Given the description of an element on the screen output the (x, y) to click on. 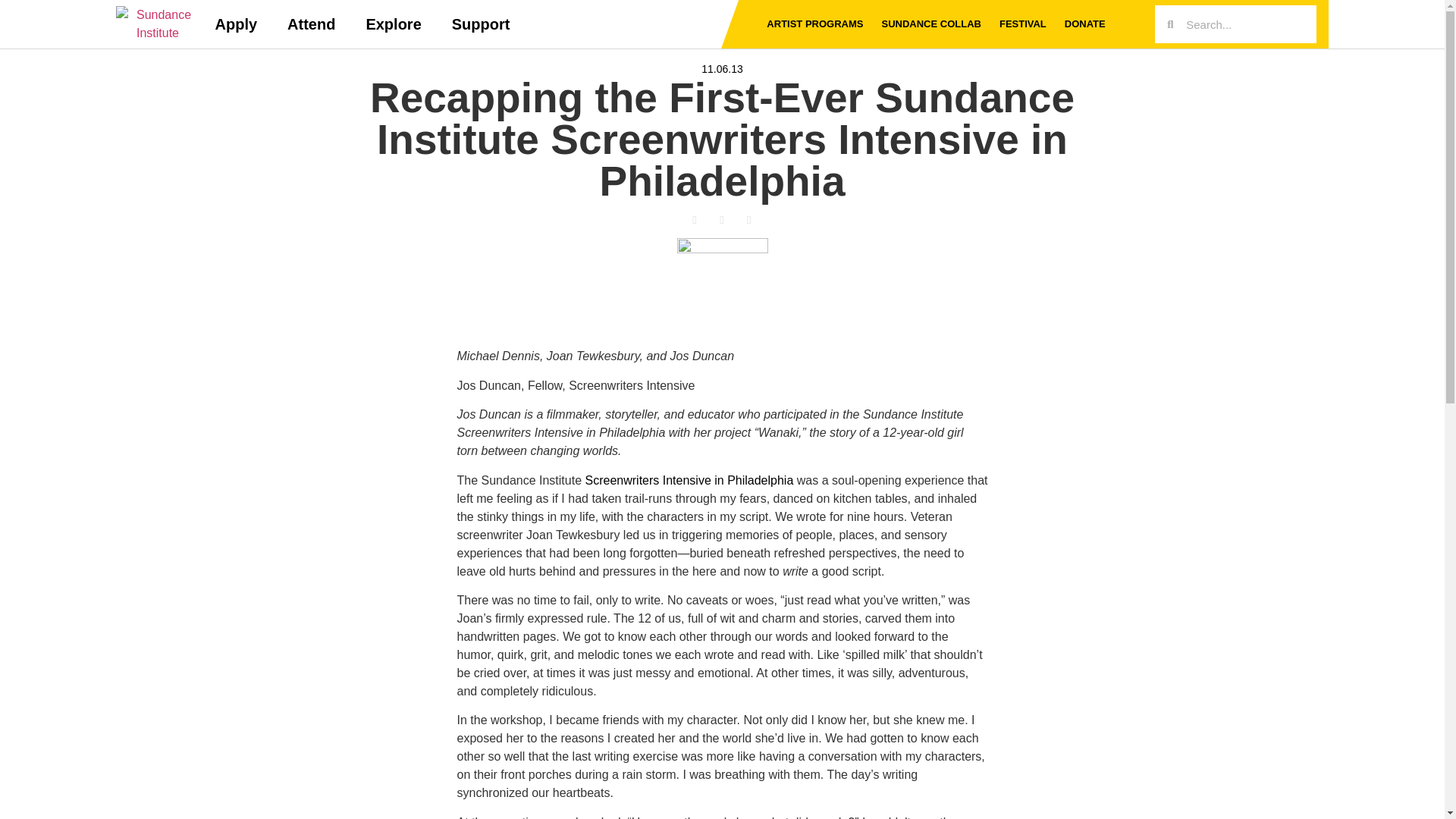
Explore (392, 24)
Support (480, 24)
Apply (236, 24)
Attend (311, 24)
